Given the description of an element on the screen output the (x, y) to click on. 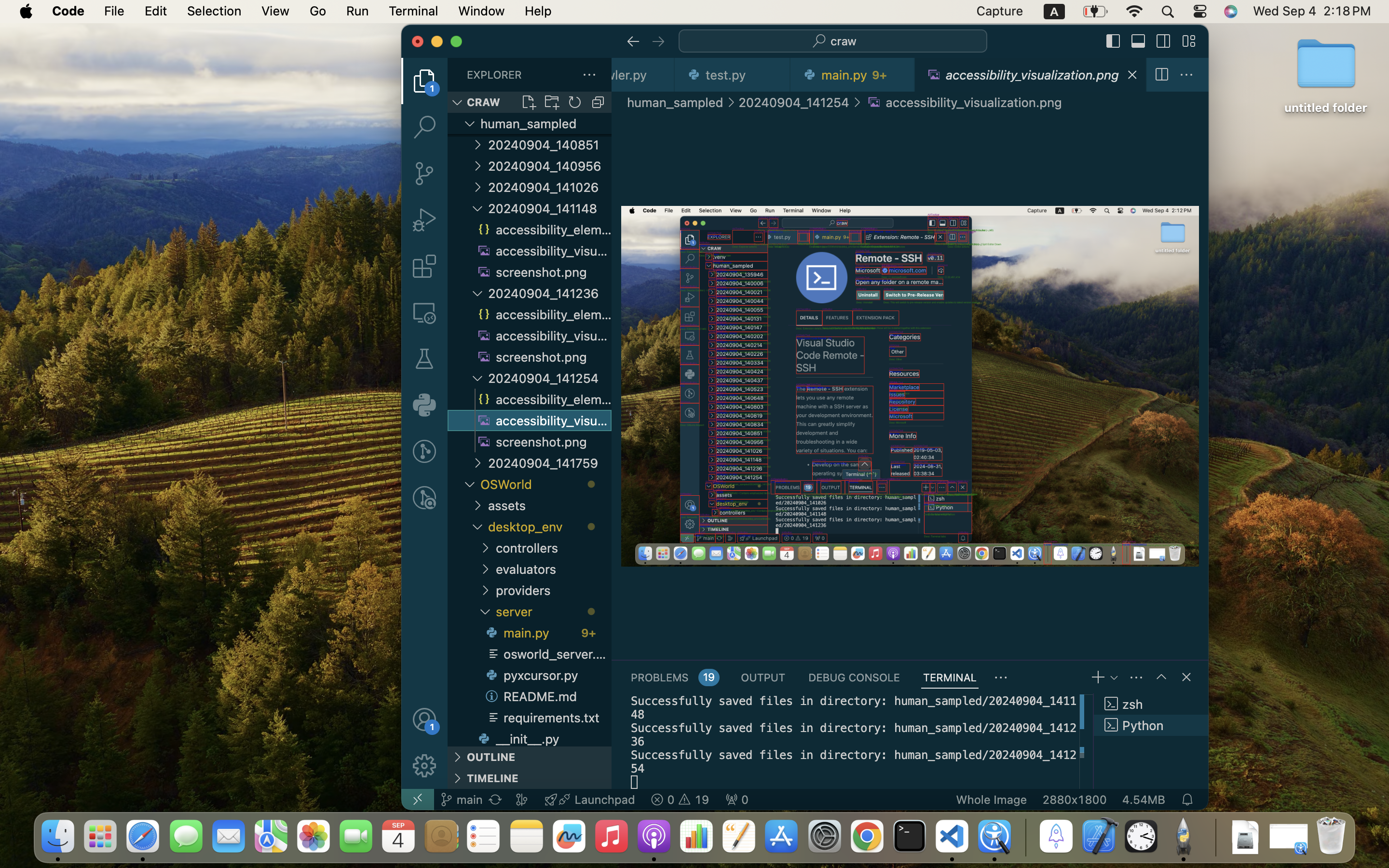
evaluators Element type: AXGroup (553, 568)
0 OUTPUT Element type: AXRadioButton (763, 676)
 Element type: AXGroup (424, 451)
assets Element type: AXGroup (549, 504)
 Element type: AXButton (1186, 676)
